Given the description of an element on the screen output the (x, y) to click on. 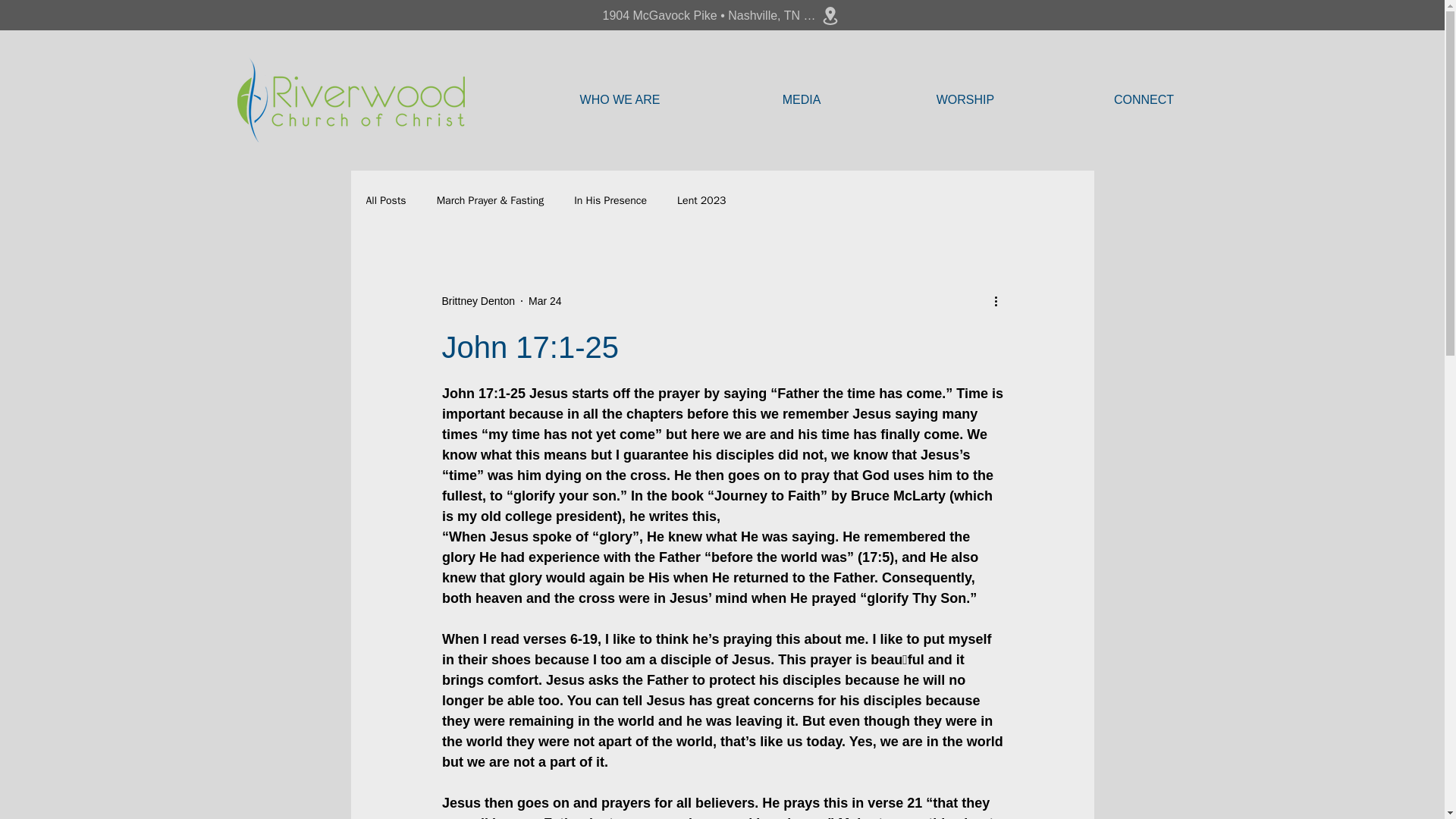
Lent 2023 (701, 201)
Brittney Denton (478, 300)
All Posts (385, 201)
Mar 24 (545, 300)
In His Presence (609, 201)
Brittney Denton (478, 300)
Logo3b.png (349, 99)
